Given the description of an element on the screen output the (x, y) to click on. 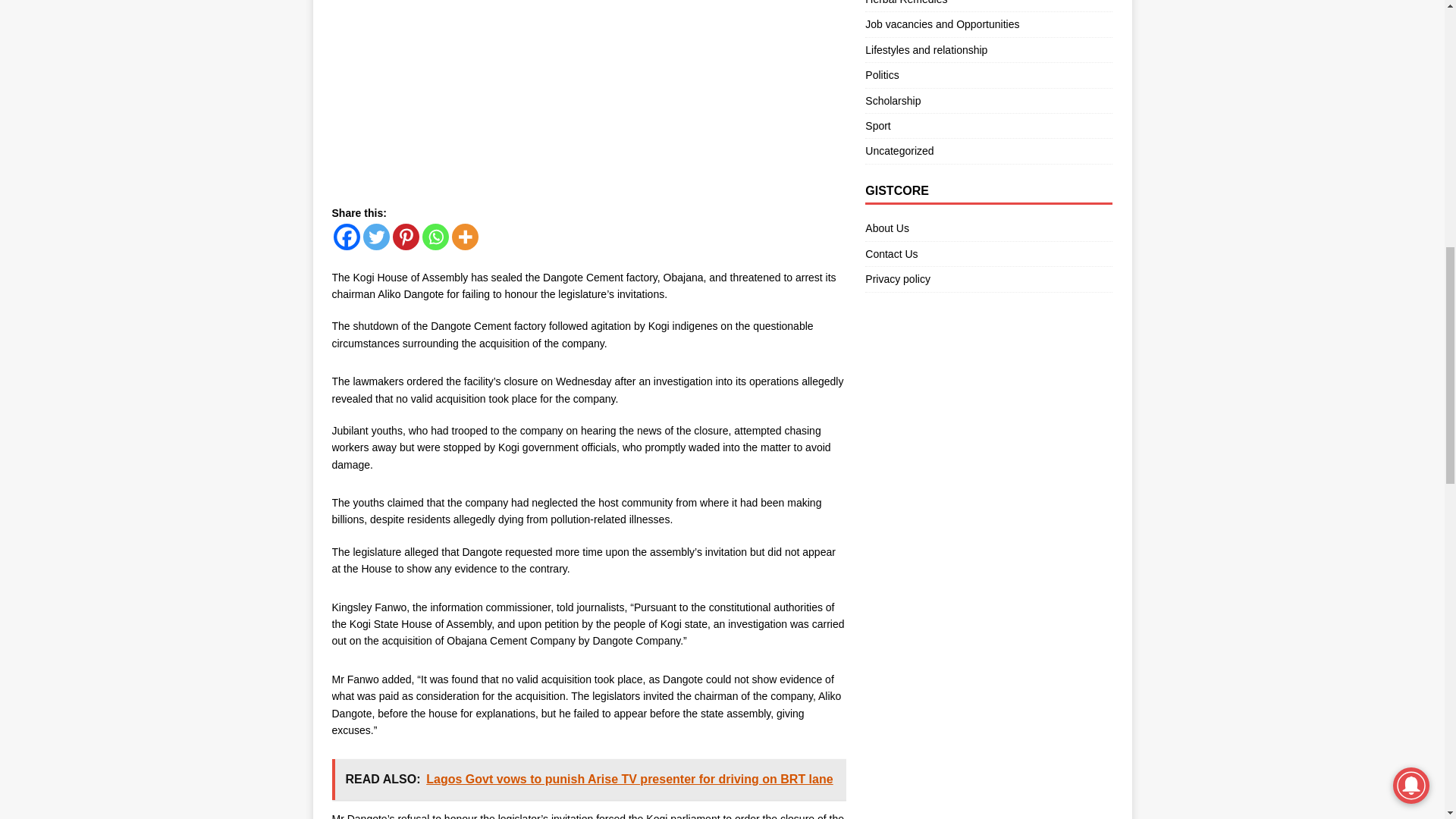
More (465, 236)
Whatsapp (435, 236)
Facebook (346, 236)
Advertisement (588, 99)
Twitter (375, 236)
Pinterest (406, 236)
